Given the description of an element on the screen output the (x, y) to click on. 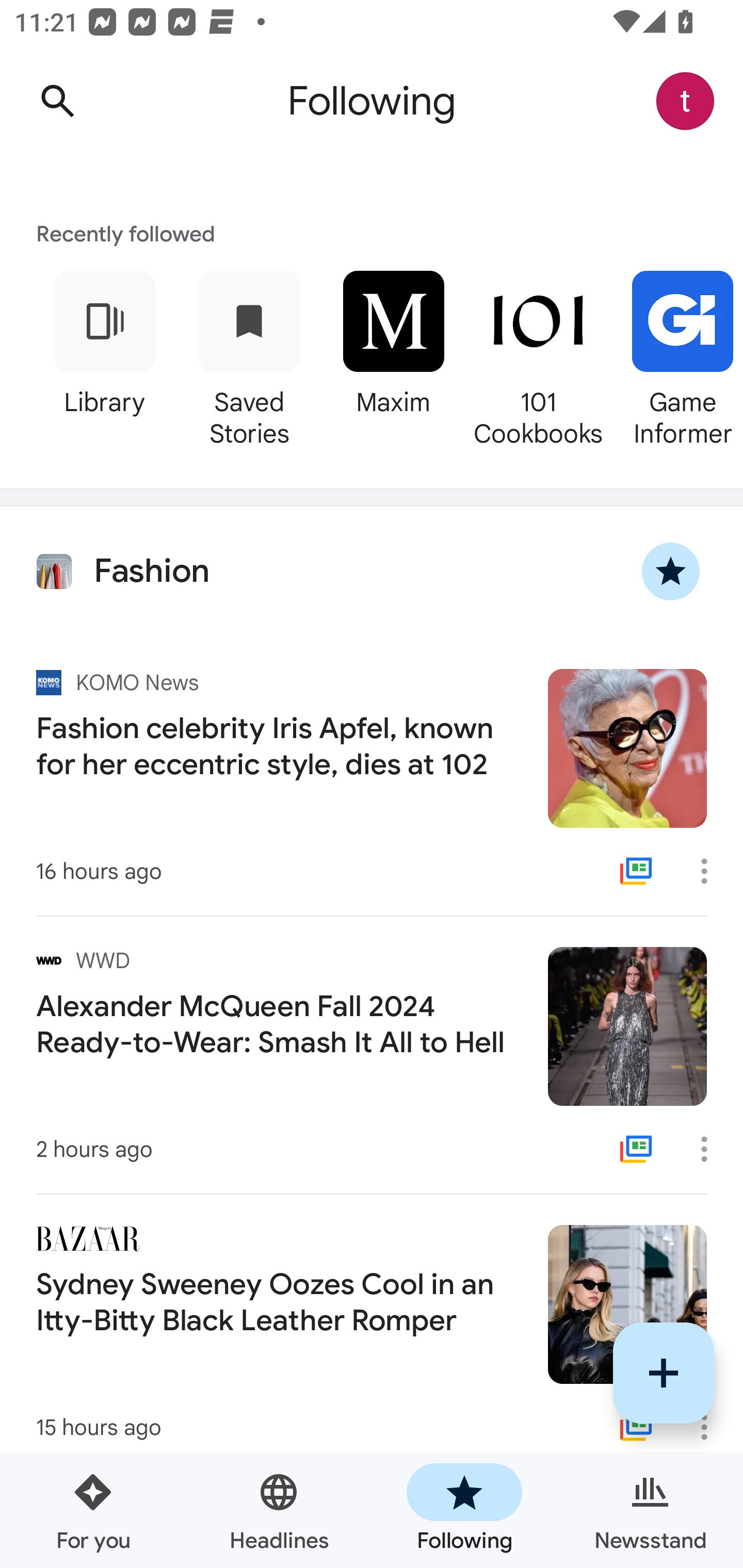
Search (57, 100)
Library (104, 355)
Saved Stories (248, 355)
Maxim (393, 355)
101 Cookbooks (537, 355)
Game Informer (676, 355)
Fashion Fashion Unfollow (371, 571)
Unfollow (670, 571)
More options (711, 870)
More options (711, 1149)
Follow (663, 1372)
More options (711, 1426)
For you (92, 1509)
Headlines (278, 1509)
Following (464, 1509)
Newsstand (650, 1509)
